Given the description of an element on the screen output the (x, y) to click on. 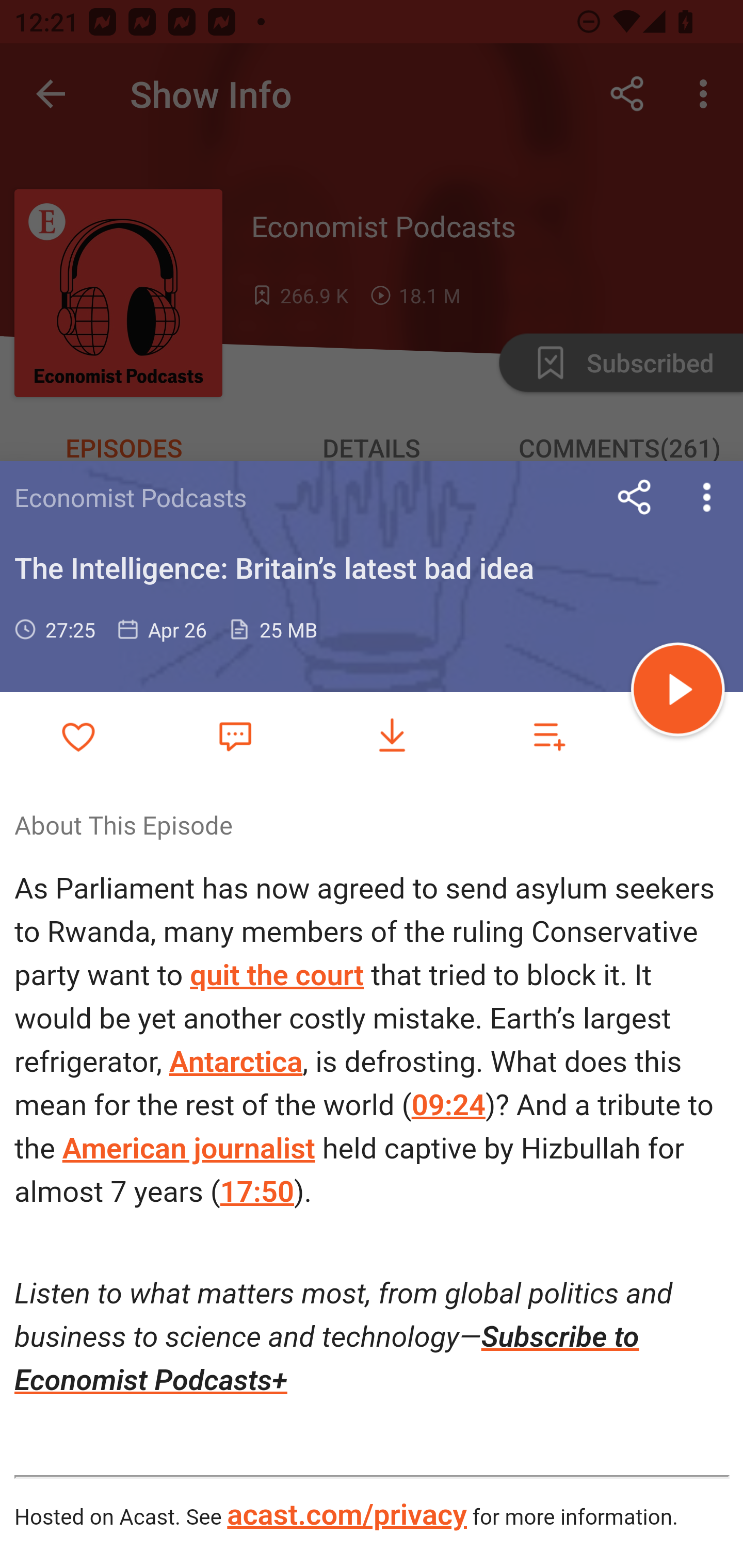
Share (634, 496)
more options (706, 496)
Play (677, 692)
Favorite (234, 735)
Add to Favorites (78, 735)
Download (391, 735)
Add to playlist (548, 735)
quit the court (276, 976)
Antarctica (235, 1062)
09:24 (447, 1104)
American journalist (188, 1148)
17:50 (257, 1192)
Subscribe to Economist Podcasts+ (327, 1357)
acast.com/privacy (346, 1515)
